Given the description of an element on the screen output the (x, y) to click on. 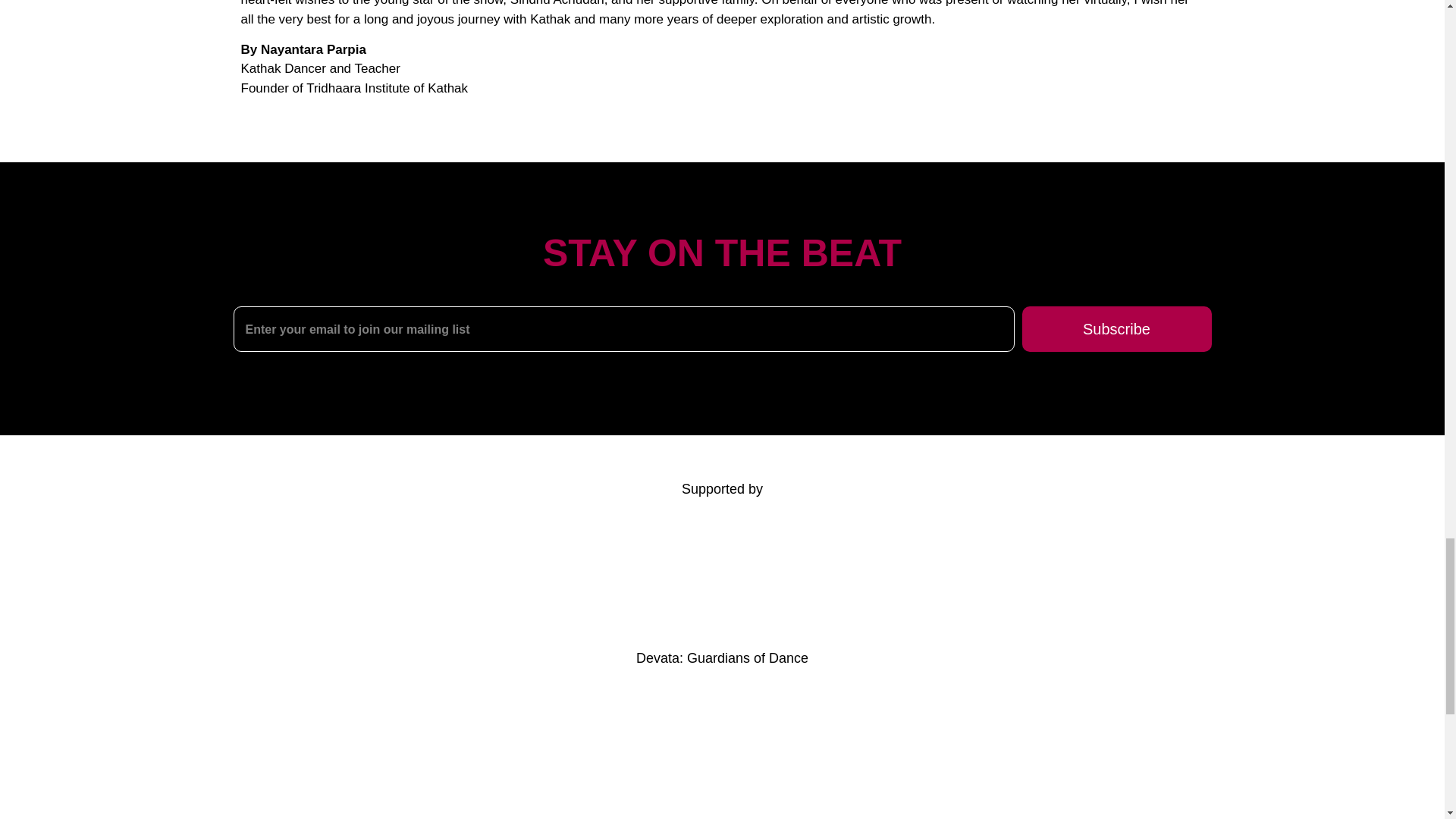
Subscribe (1116, 329)
